Given the description of an element on the screen output the (x, y) to click on. 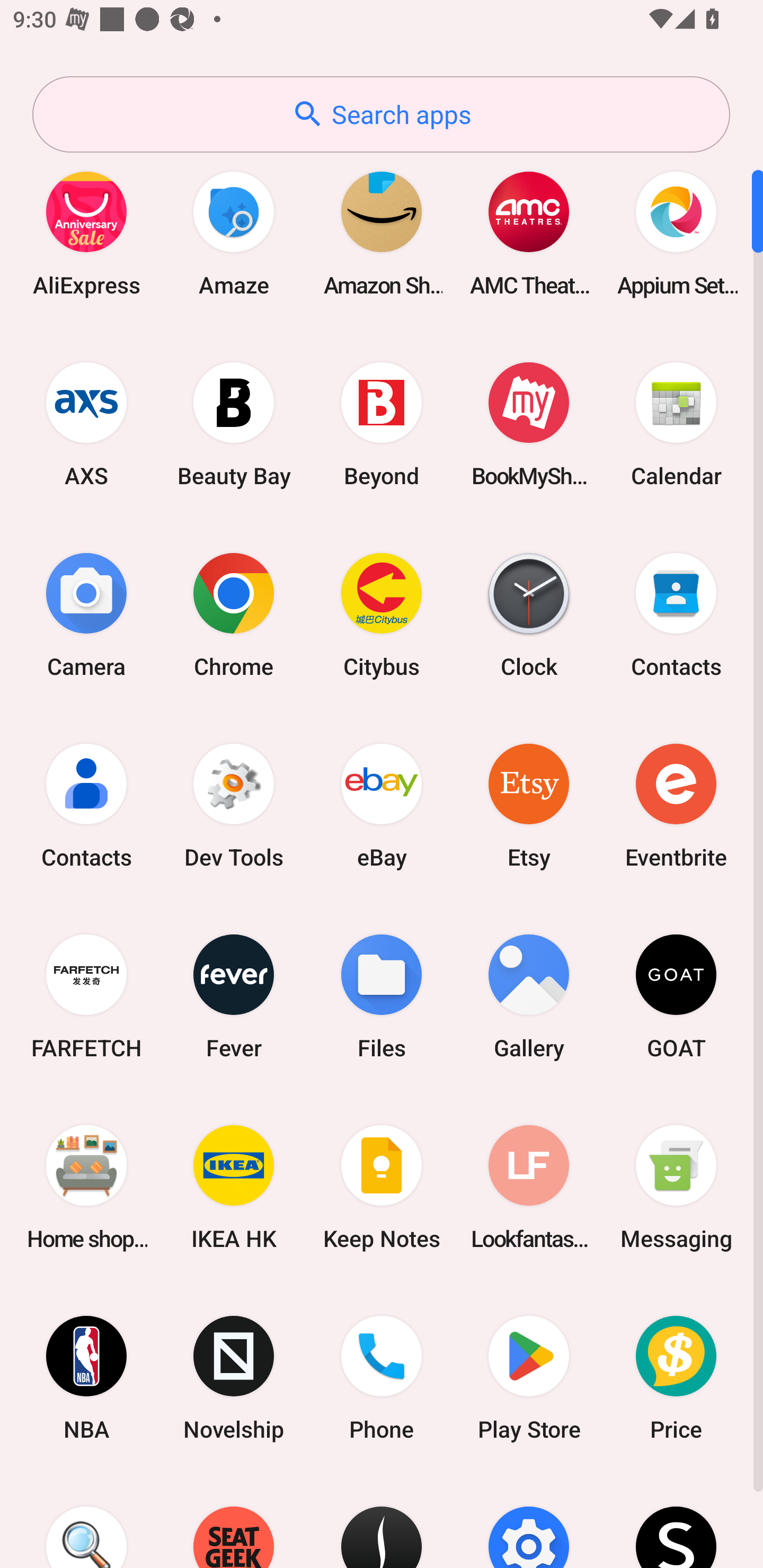
  Search apps (381, 114)
AliExpress (86, 233)
Amaze (233, 233)
Amazon Shopping (381, 233)
AMC Theatres (528, 233)
Appium Settings (676, 233)
AXS (86, 424)
Beauty Bay (233, 424)
Beyond (381, 424)
BookMyShow (528, 424)
Calendar (676, 424)
Camera (86, 614)
Chrome (233, 614)
Citybus (381, 614)
Clock (528, 614)
Contacts (676, 614)
Contacts (86, 805)
Dev Tools (233, 805)
eBay (381, 805)
Etsy (528, 805)
Eventbrite (676, 805)
FARFETCH (86, 996)
Fever (233, 996)
Files (381, 996)
Gallery (528, 996)
GOAT (676, 996)
Home shopping (86, 1186)
IKEA HK (233, 1186)
Keep Notes (381, 1186)
Lookfantastic (528, 1186)
Messaging (676, 1186)
NBA (86, 1377)
Novelship (233, 1377)
Phone (381, 1377)
Play Store (528, 1377)
Price (676, 1377)
